Given the description of an element on the screen output the (x, y) to click on. 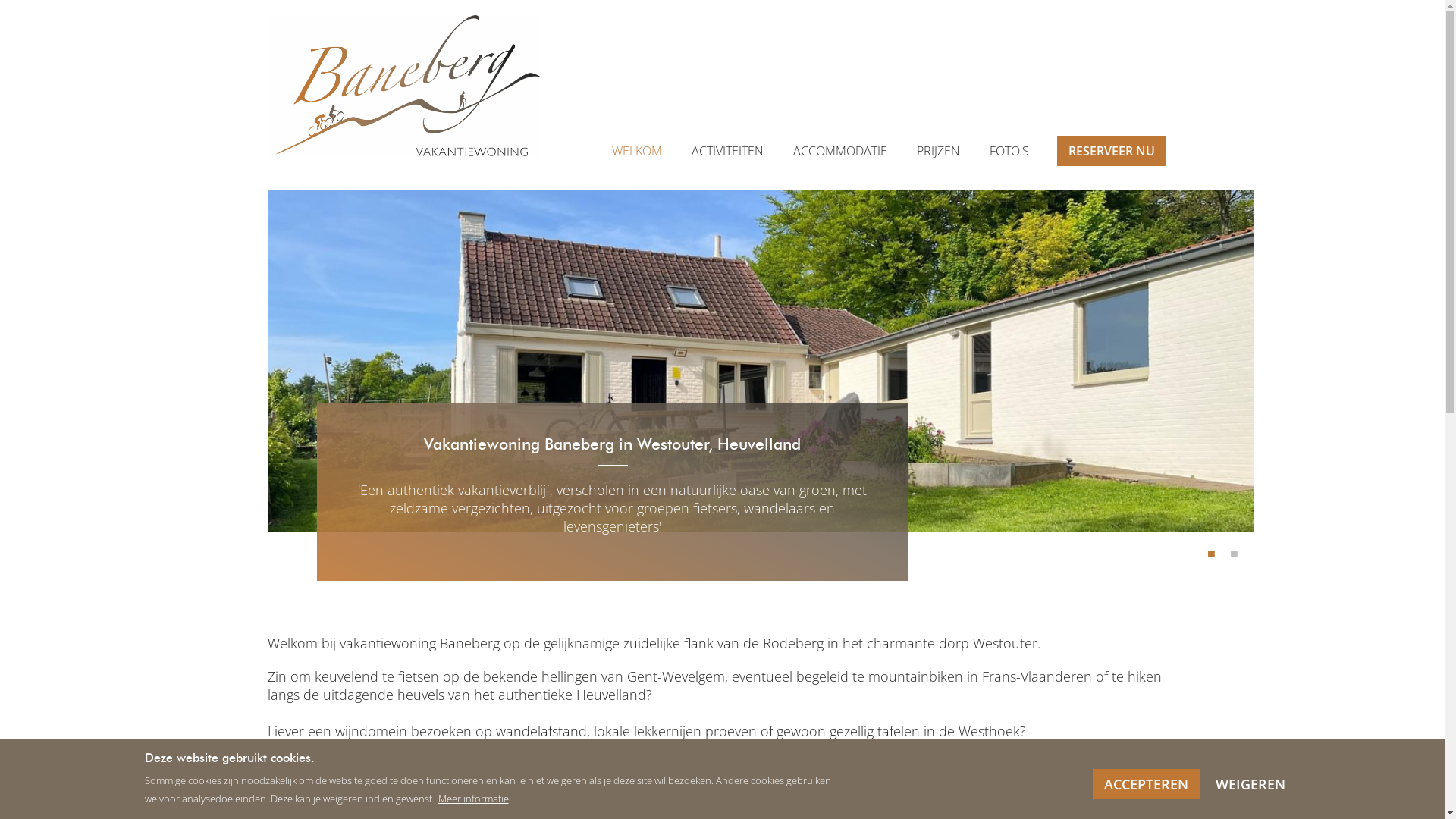
FOTO'S Element type: text (1008, 150)
1 Element type: text (1211, 553)
2 Element type: text (1234, 553)
ACTIVITEITEN Element type: text (727, 150)
ACCEPTEREN Element type: text (1146, 784)
NEXT Element type: text (1244, 359)
PRIJZEN Element type: text (937, 150)
ACCOMMODATIE Element type: text (839, 150)
RESERVEER NU Element type: text (1111, 150)
Overslaan en naar de inhoud gaan Element type: text (0, 0)
Meer informatie Element type: text (473, 798)
WEIGEREN Element type: text (1250, 783)
PREVIOUS Element type: text (198, 359)
WELKOM Element type: text (635, 150)
